Given the description of an element on the screen output the (x, y) to click on. 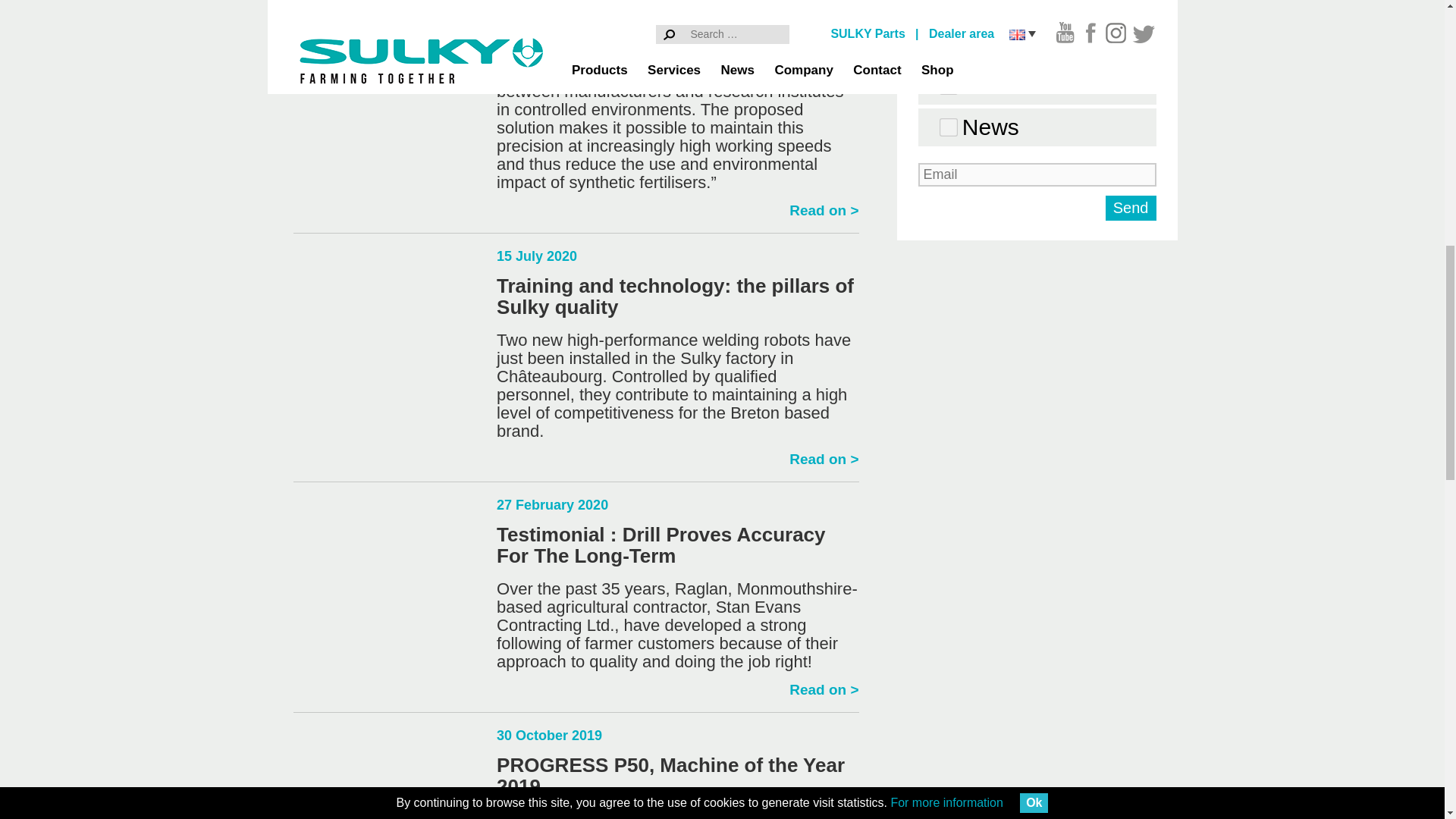
3 (946, 125)
Send (1130, 207)
2 (946, 83)
1 (946, 42)
